Given the description of an element on the screen output the (x, y) to click on. 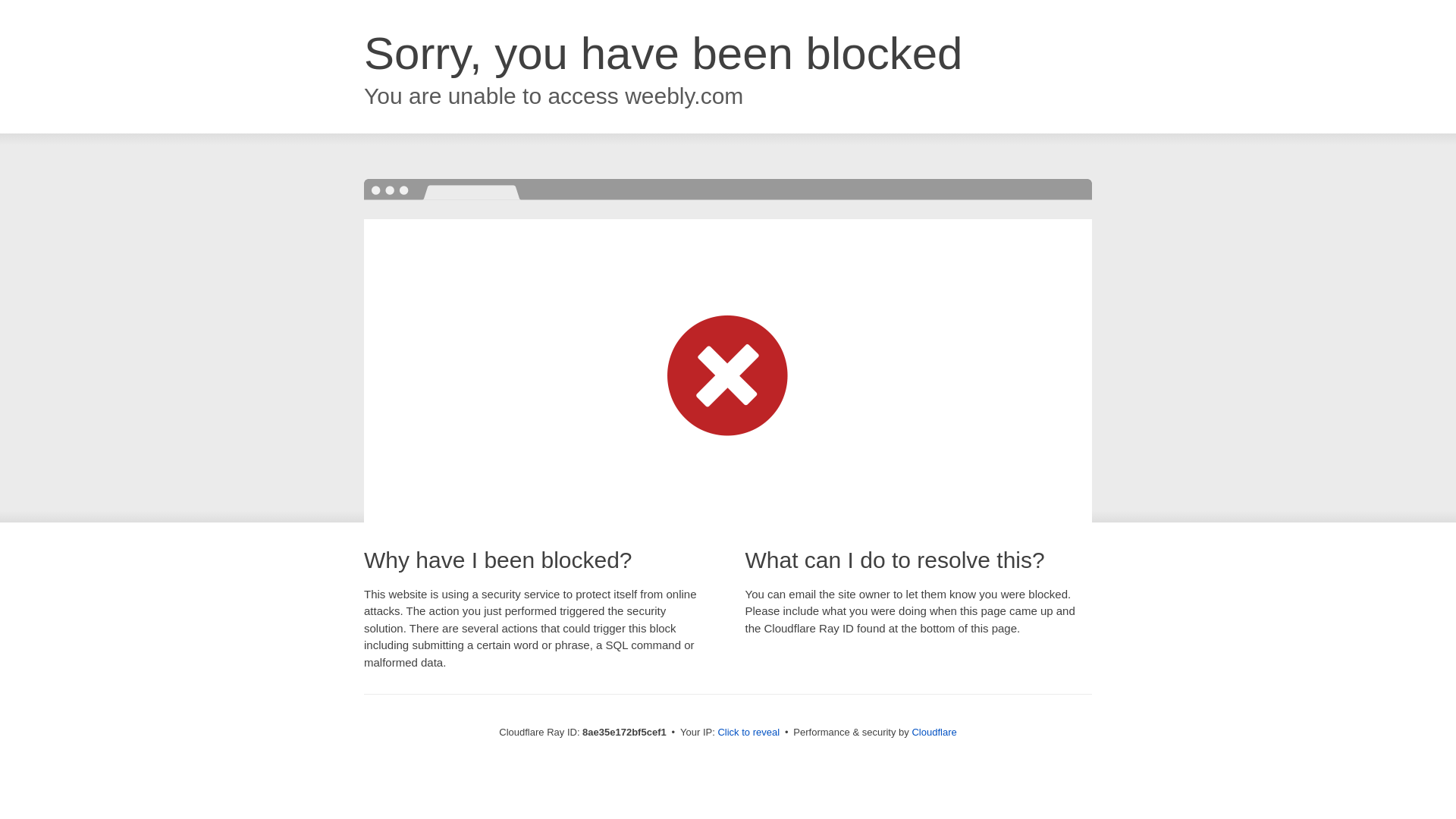
Click to reveal (747, 732)
Cloudflare (933, 731)
